Given the description of an element on the screen output the (x, y) to click on. 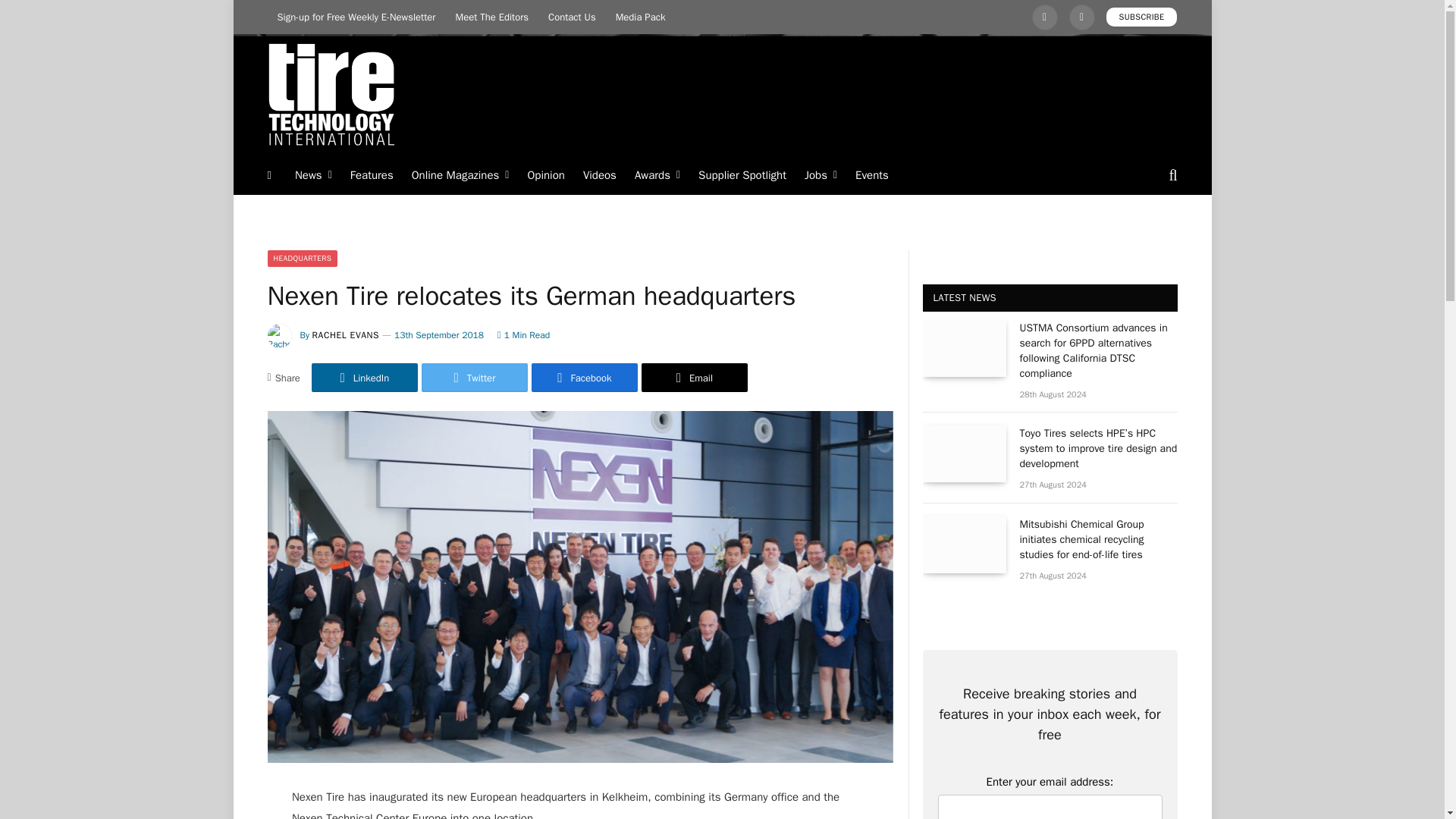
Share on Twitter (474, 377)
Share on Facebook (584, 377)
Posts by Rachel Evans (345, 335)
Share via Email (695, 377)
Tire Technology International (330, 94)
Share on LinkedIn (364, 377)
